Given the description of an element on the screen output the (x, y) to click on. 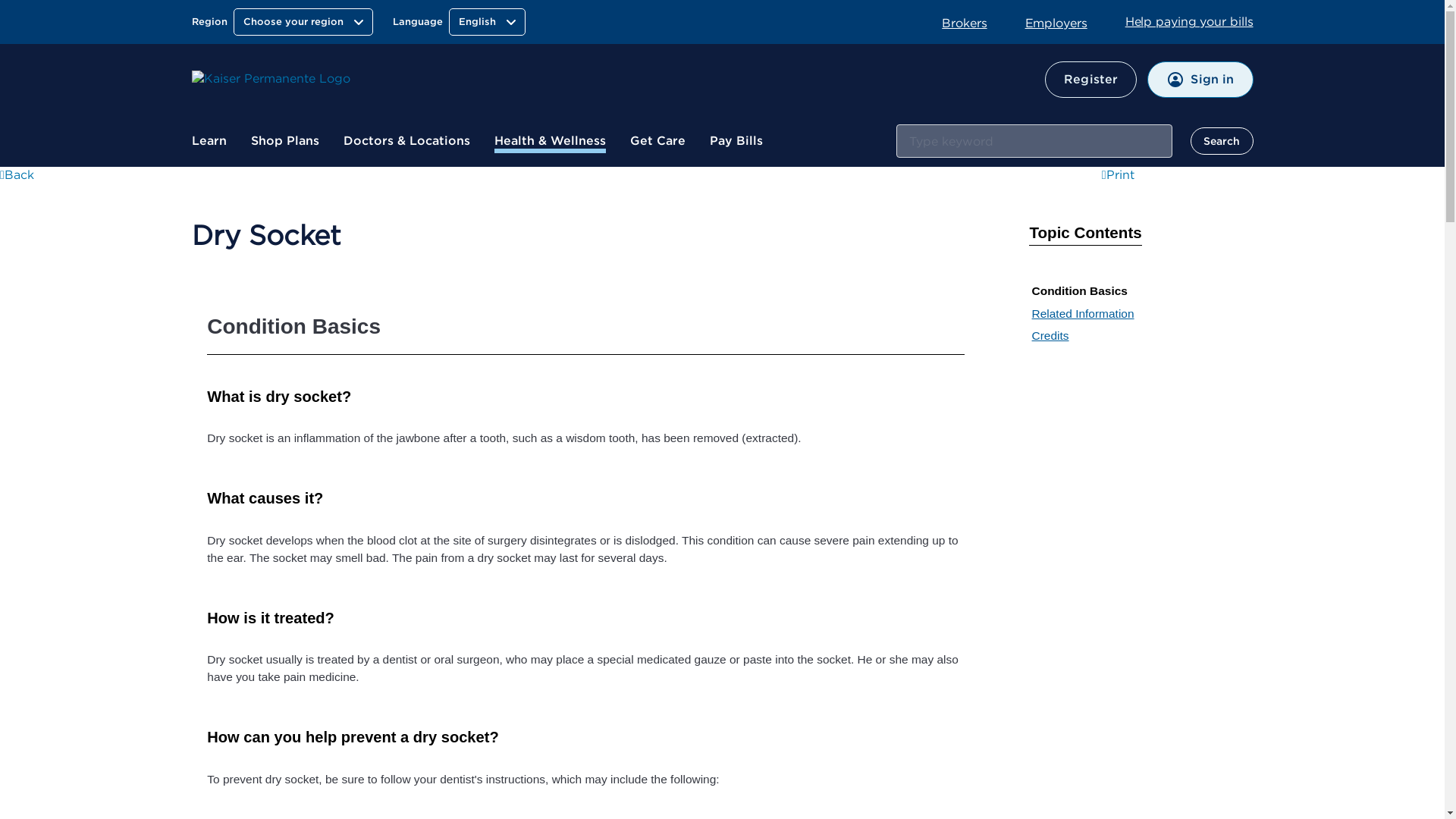
Pay Bills (736, 140)
Learn (207, 140)
Get Care (656, 140)
Opens in a new window, external (1128, 174)
Help paying your bills (1189, 21)
English (486, 22)
Opens in a new window, external (974, 22)
Sign in (1199, 79)
Shop Plans (284, 140)
Choose your region (302, 22)
